Given the description of an element on the screen output the (x, y) to click on. 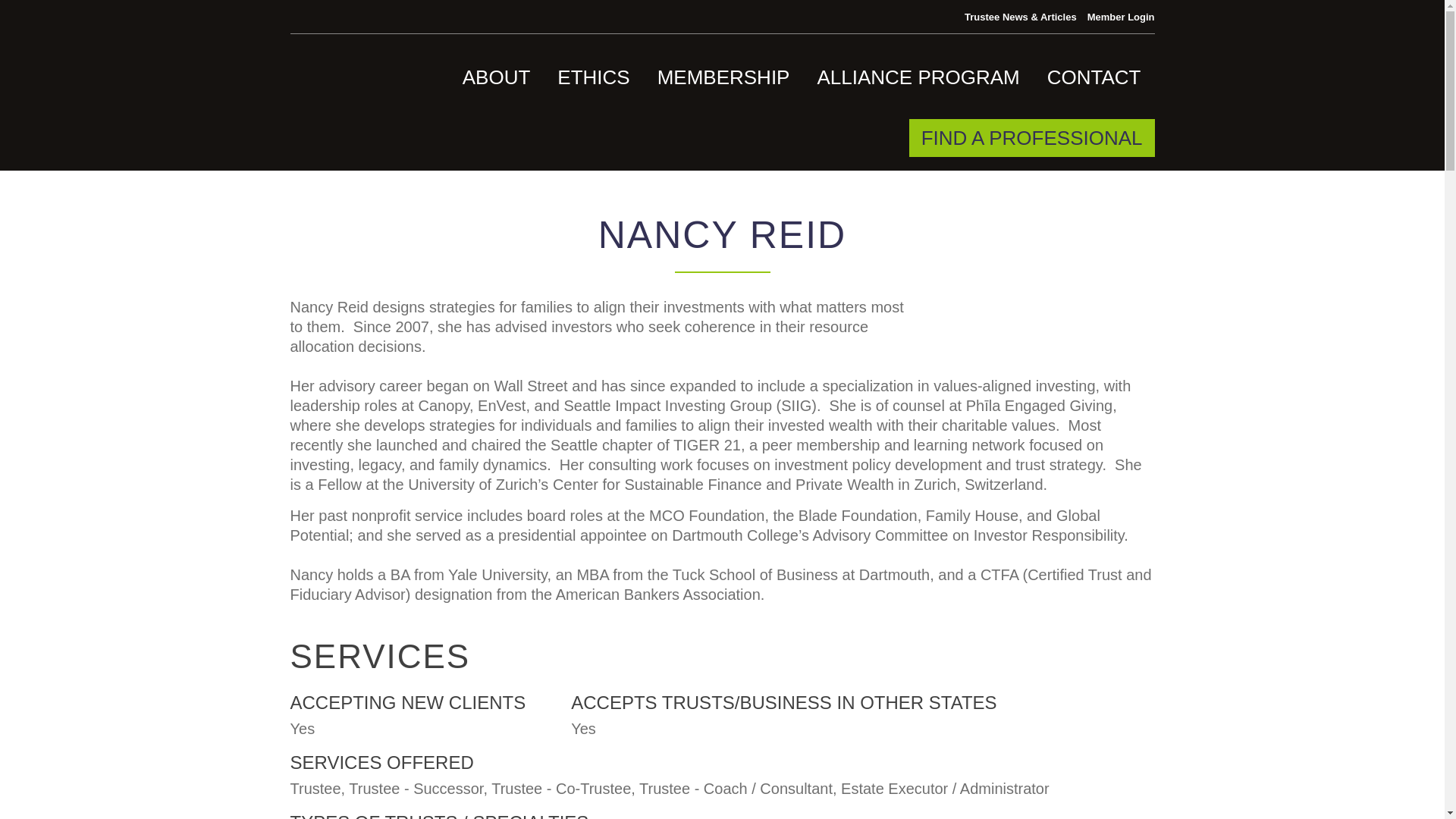
ABOUT (497, 77)
CONTACT (1093, 77)
MEMBERSHIP (723, 77)
ETHICS (592, 77)
Member Login (1120, 16)
FIND A PROFESSIONAL (1031, 137)
ALLIANCE PROGRAM (917, 77)
